Given the description of an element on the screen output the (x, y) to click on. 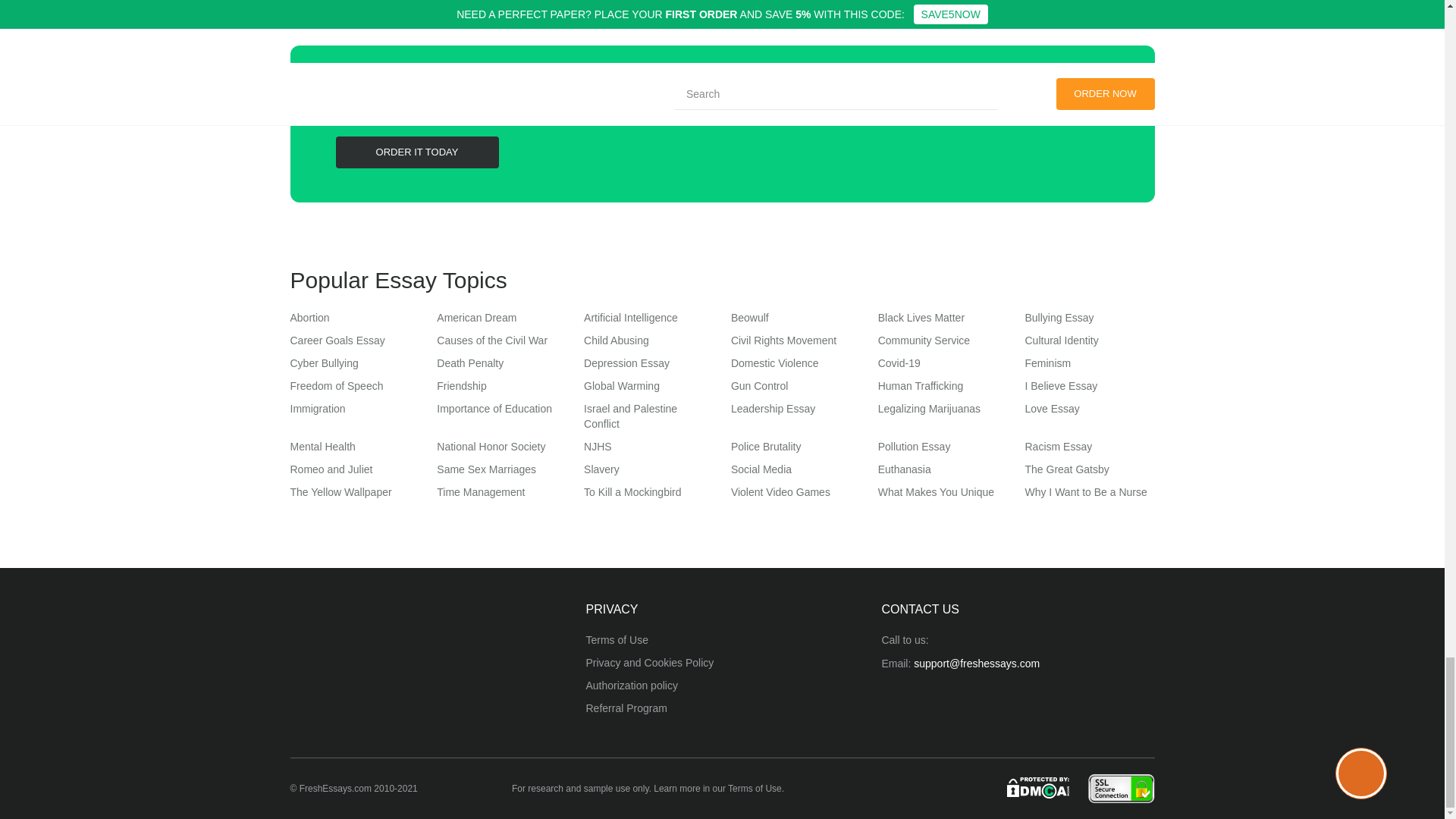
Artificial Intelligence (630, 317)
American Dream (476, 317)
DMCA.com Protection Program (1039, 787)
Abortion (309, 317)
ORDER IT TODAY (415, 152)
